Given the description of an element on the screen output the (x, y) to click on. 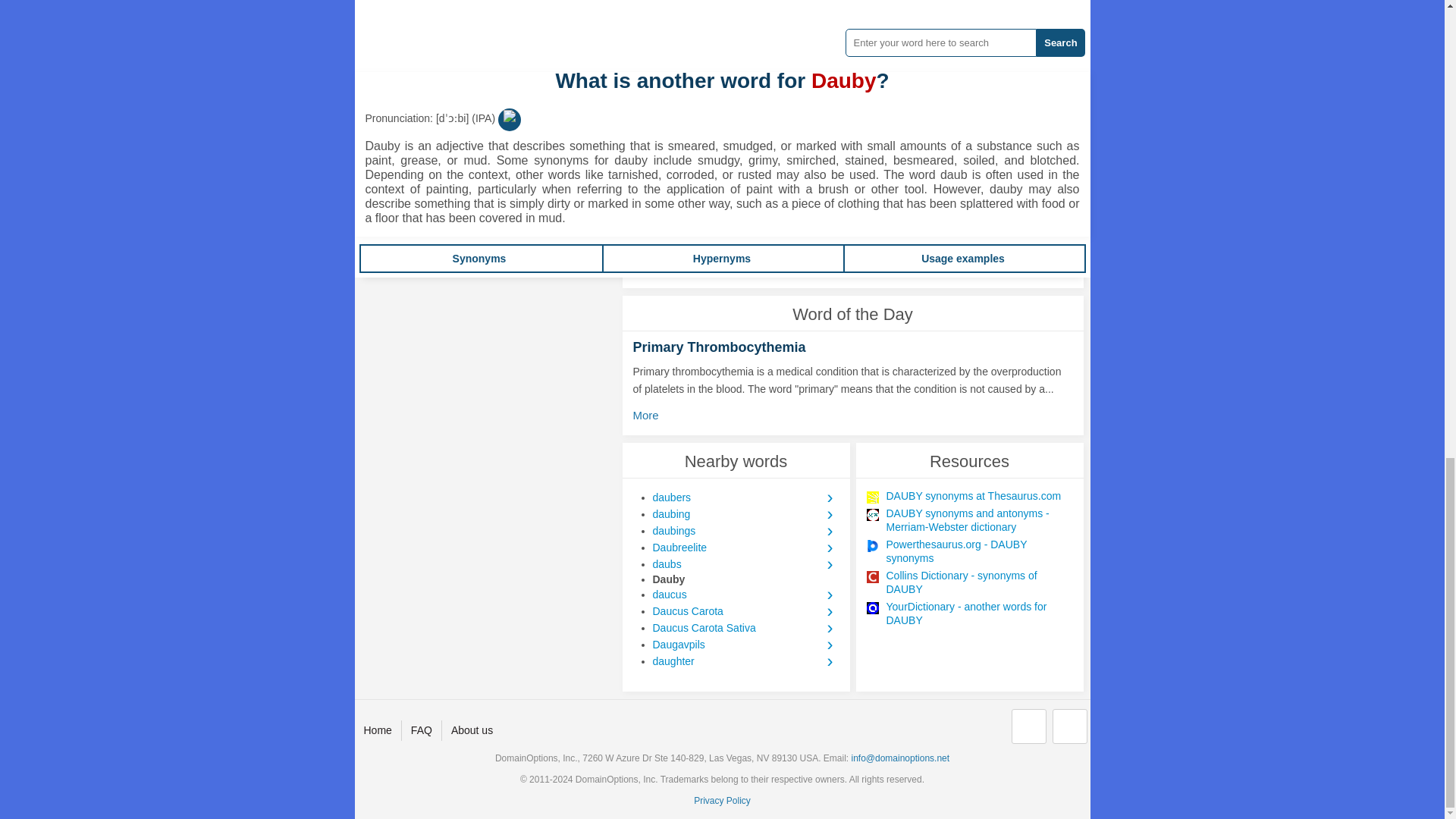
Daucus Carota Sativa (745, 627)
daubings (745, 530)
daughter (745, 660)
daubing (745, 514)
Daucus Carota (745, 610)
Daugavpils (745, 644)
Powerthesaurus.org - DAUBY synonyms (978, 551)
daubs (745, 564)
DAUBY synonyms and antonyms - Merriam-Webster dictionary (978, 519)
daucus (745, 594)
Collins Dictionary - synonyms of DAUBY (978, 582)
What is another word for Dauby? (456, 5)
daubers (745, 497)
Other relevant words: (437, 46)
More (648, 415)
